Given the description of an element on the screen output the (x, y) to click on. 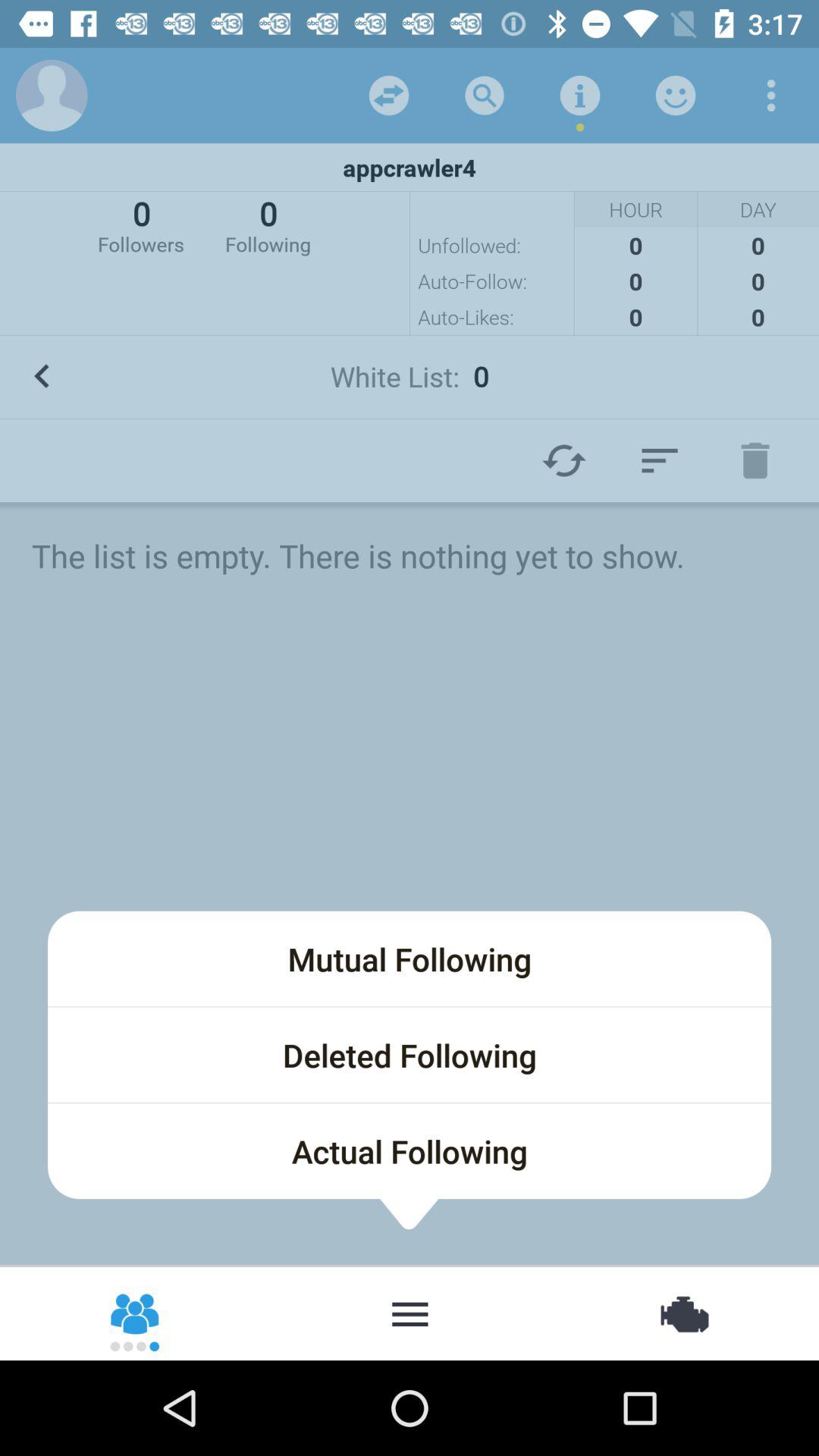
toggle menu (659, 460)
